Given the description of an element on the screen output the (x, y) to click on. 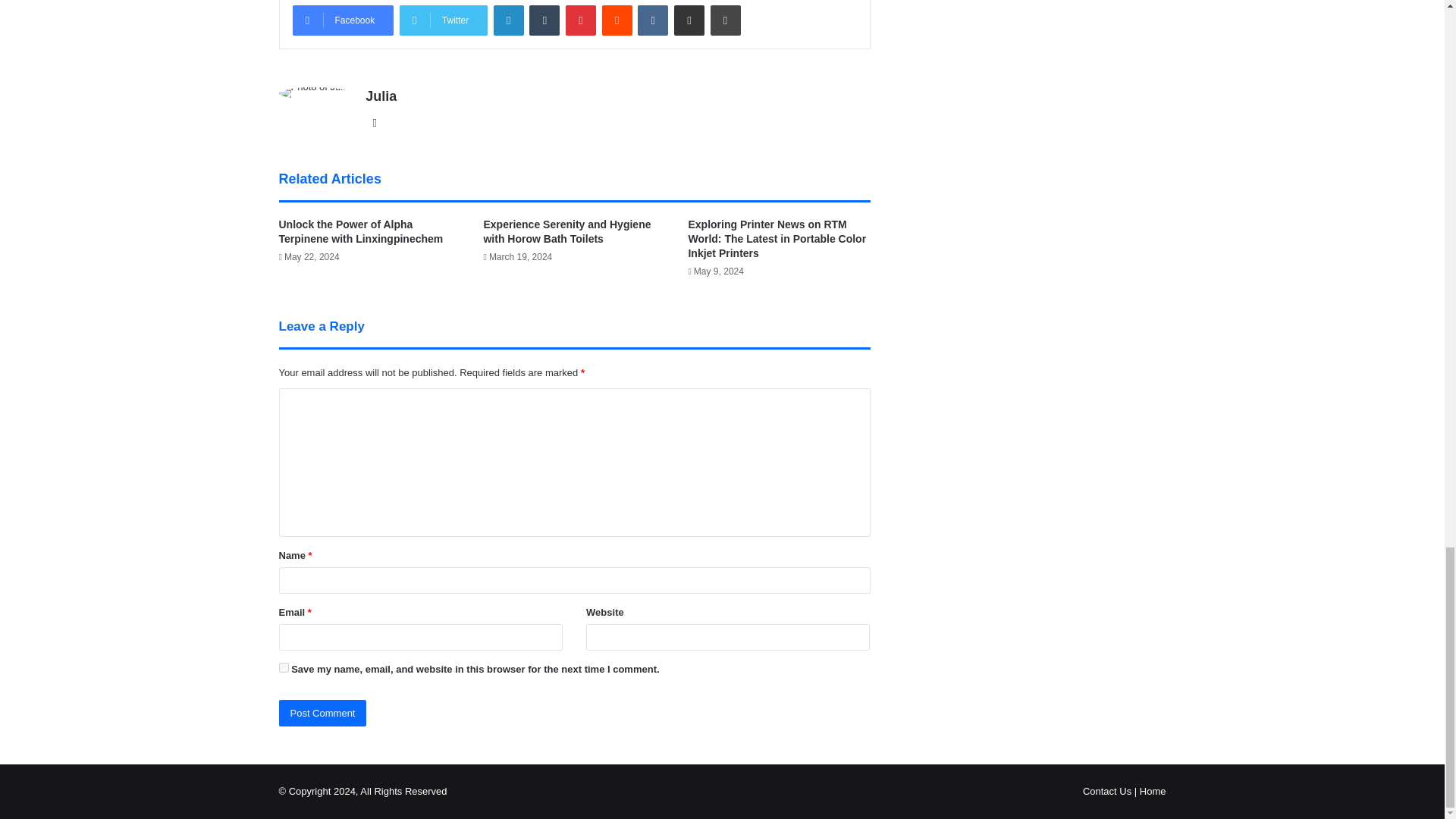
Post Comment (322, 713)
Pinterest (580, 20)
VKontakte (652, 20)
Reddit (616, 20)
Unlock the Power of Alpha Terpinene with Linxingpinechem (361, 231)
Twitter (442, 20)
Share via Email (689, 20)
LinkedIn (508, 20)
Pinterest (580, 20)
